Given the description of an element on the screen output the (x, y) to click on. 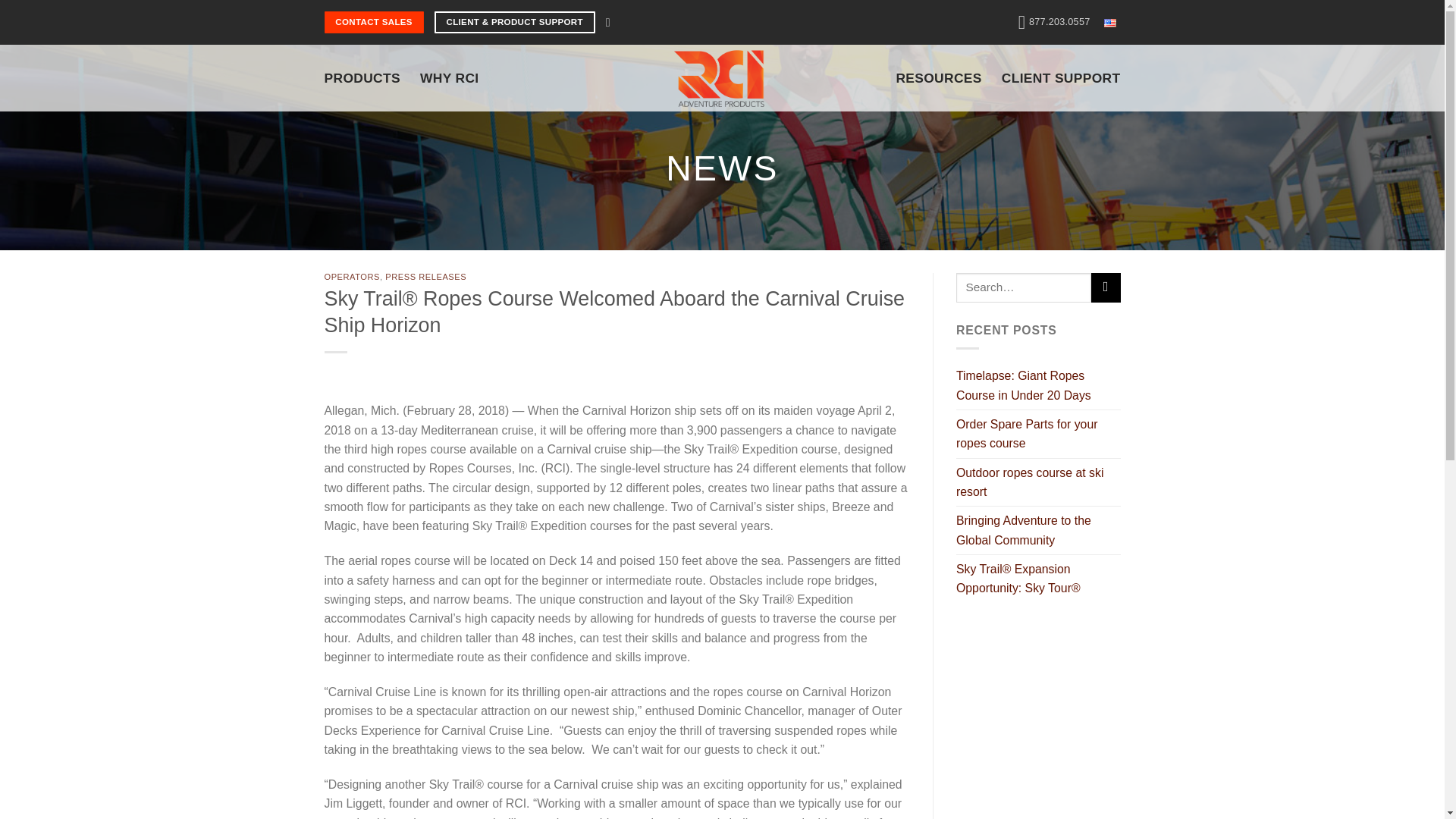
PRODUCTS (362, 77)
CONTACT SALES (373, 22)
WHY RCI (449, 77)
877.203.0557 (1053, 22)
RESOURCES (938, 77)
877.203.0557 (1053, 22)
